Given the description of an element on the screen output the (x, y) to click on. 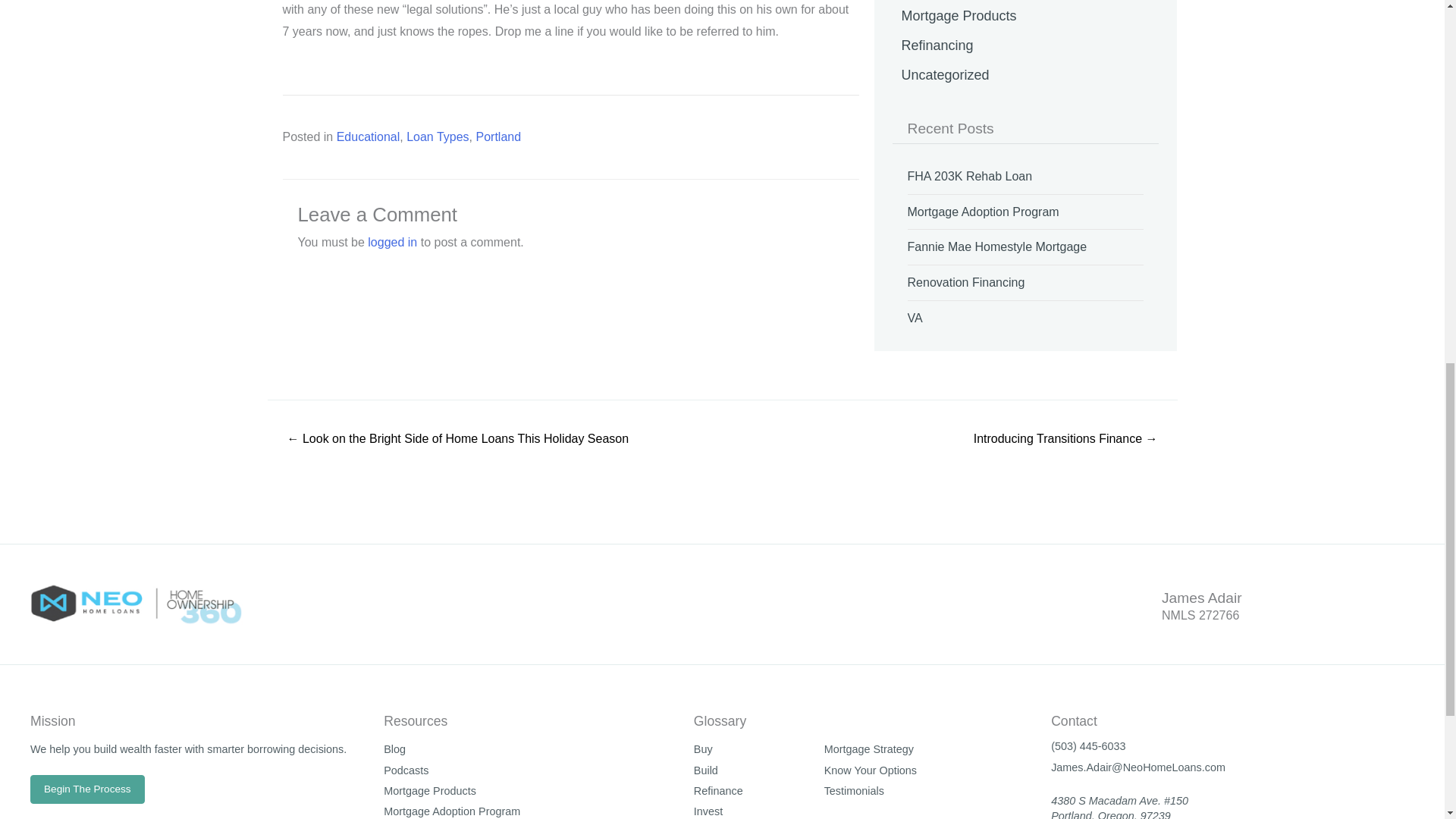
logged in (392, 241)
Educational (368, 136)
Portland (498, 136)
Loan Types (437, 136)
